Given the description of an element on the screen output the (x, y) to click on. 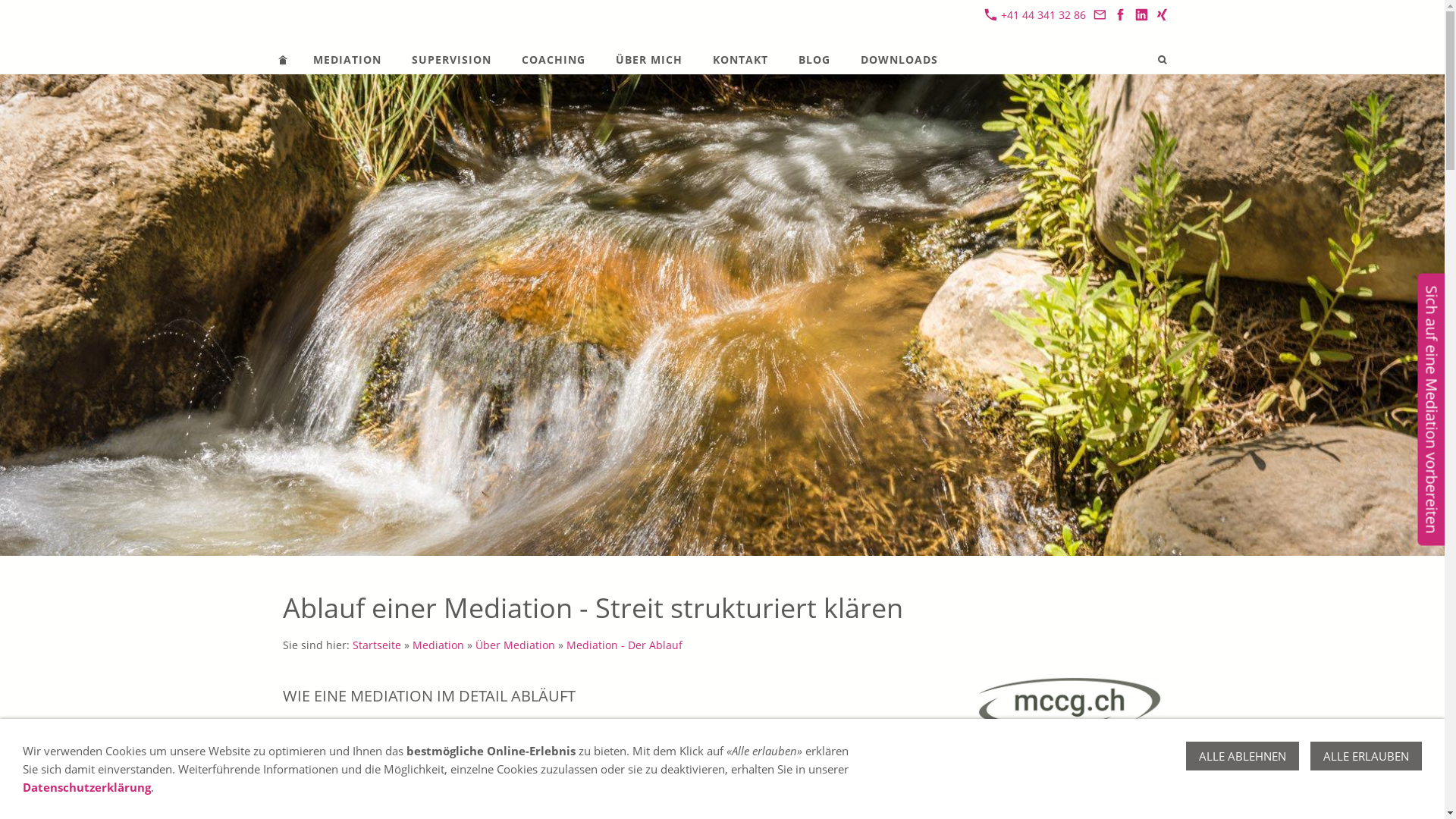
COACHING Element type: text (553, 59)
Unsere Facebook-Seite besuchen Element type: hover (1120, 14)
ALLE ABLEHNEN Element type: text (1242, 755)
Mediation Element type: text (438, 645)
DOWNLOADS Element type: text (898, 59)
BLOG Element type: text (813, 59)
MEDIATION Element type: text (346, 59)
 +41 44 341 32 86 Element type: text (1034, 14)
ALLE ERLAUBEN Element type: text (1365, 755)
Zu unserem Xing Profil Element type: hover (1162, 14)
Mediation - Der Ablauf Element type: text (623, 645)
Senden Sie uns eine E-Mail-Nachricht Element type: hover (1099, 14)
KONTAKT Element type: text (740, 59)
SUPERVISION Element type: text (450, 59)
Zu unserem LinkedIn Profil Element type: hover (1140, 14)
Startseite Element type: text (375, 645)
